Given the description of an element on the screen output the (x, y) to click on. 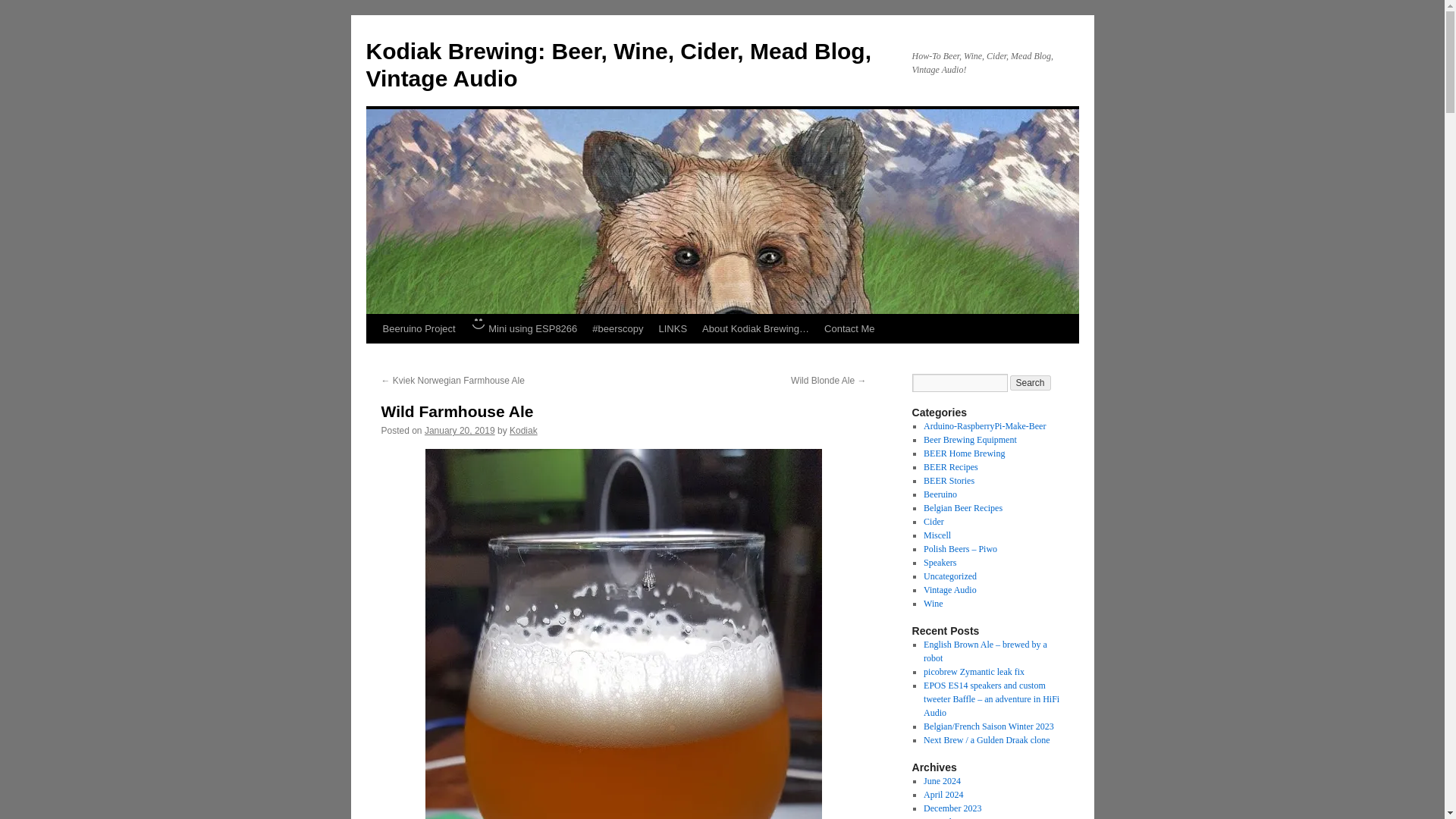
Beer Brewing Equipment (969, 439)
Mini using ESP8266 (524, 328)
Contact Me (849, 328)
Arduino-RaspberryPi-Make-Beer (984, 425)
BEER Stories (948, 480)
Search (1030, 382)
January 20, 2019 (460, 430)
BEER Home Brewing (963, 452)
LINKS (672, 328)
Beeruino Project (418, 328)
